Given the description of an element on the screen output the (x, y) to click on. 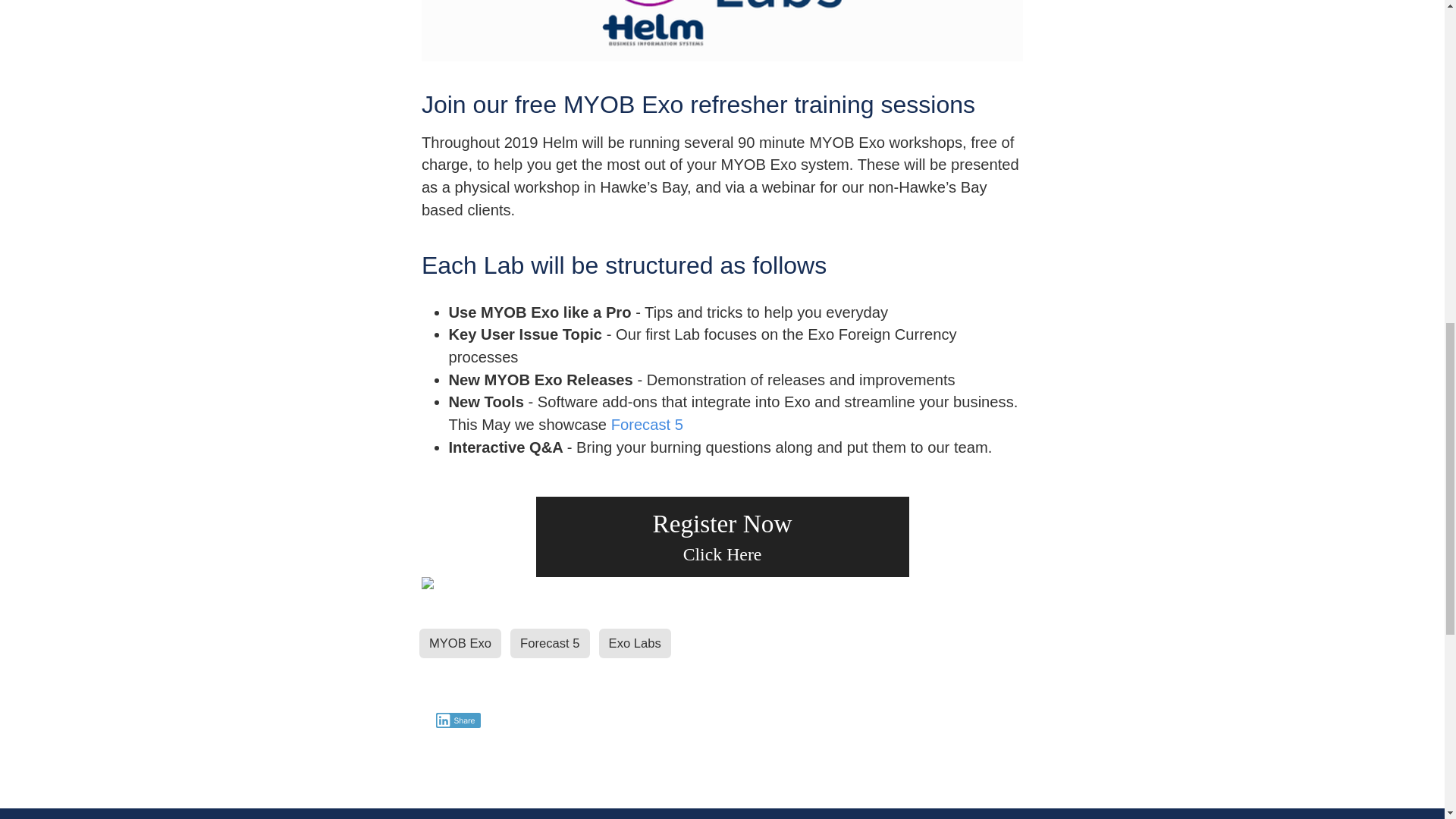
Forecast 5 (646, 424)
Share (457, 720)
